Given the description of an element on the screen output the (x, y) to click on. 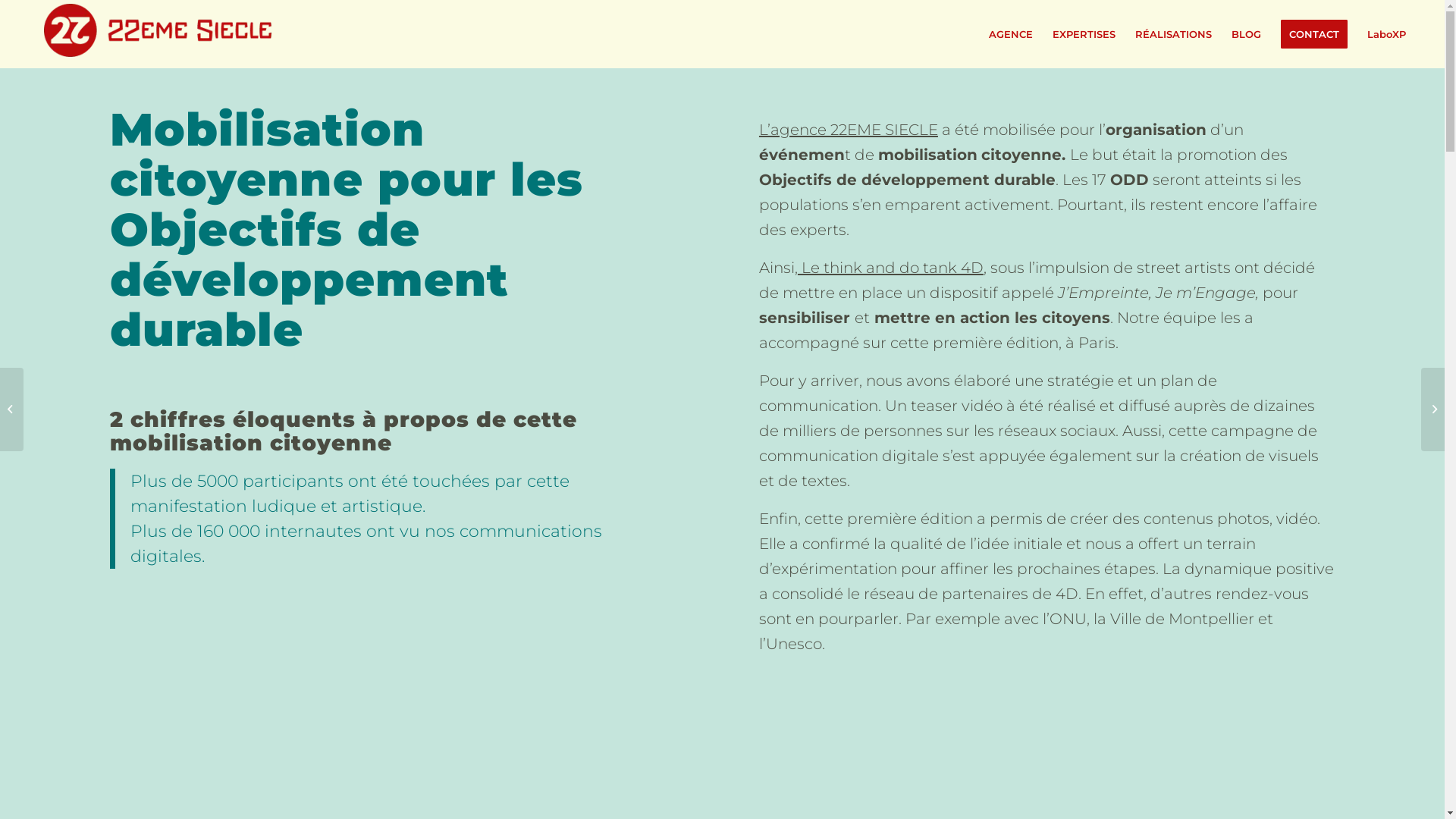
BLOG Element type: text (1245, 33)
EXPERTISES Element type: text (1083, 33)
CONTACT Element type: text (1313, 33)
Le think and do tank 4D Element type: text (890, 267)
AGENCE Element type: text (1010, 33)
LaboXP Element type: text (1386, 33)
